Given the description of an element on the screen output the (x, y) to click on. 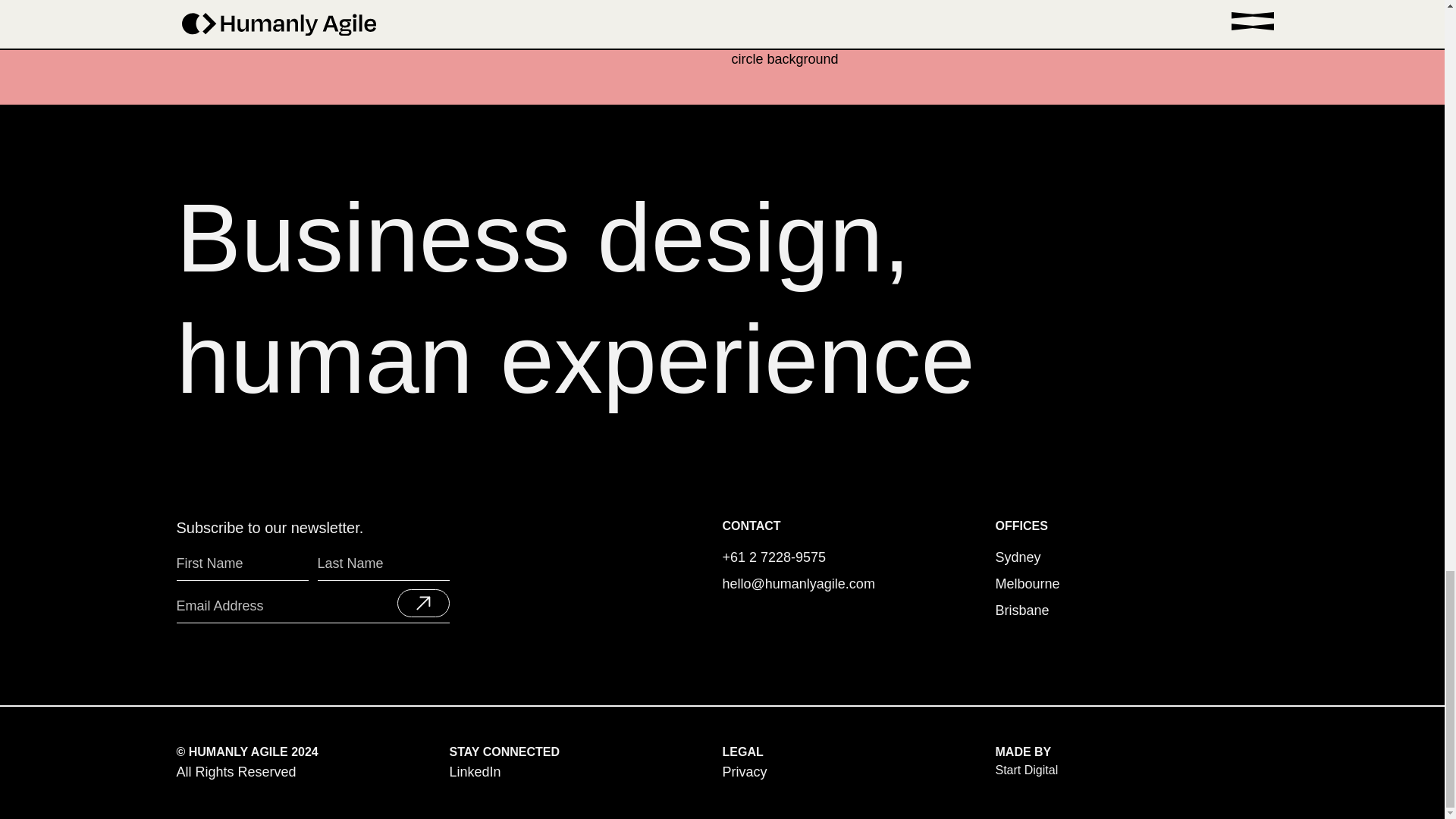
Brisbane (1021, 610)
Privacy (744, 771)
LinkedIn (585, 772)
Sydney (1131, 762)
Melbourne (1017, 557)
